Given the description of an element on the screen output the (x, y) to click on. 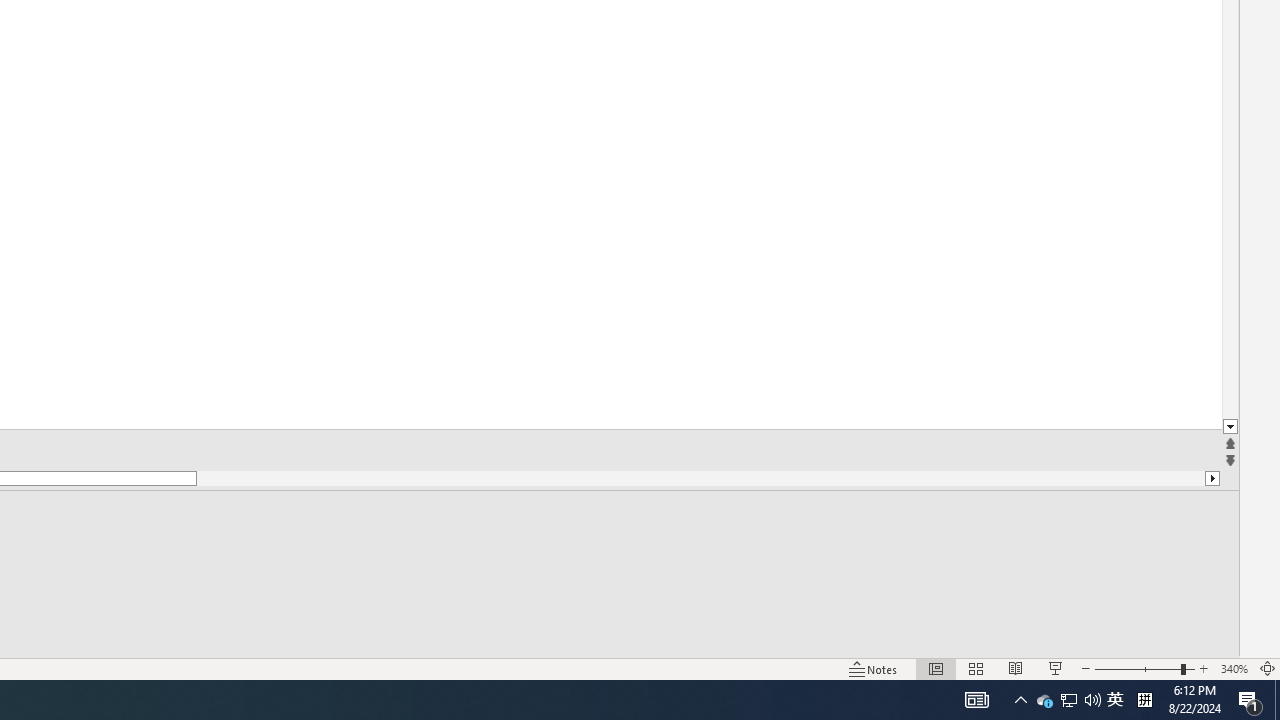
Zoom 340% (1234, 668)
